Given the description of an element on the screen output the (x, y) to click on. 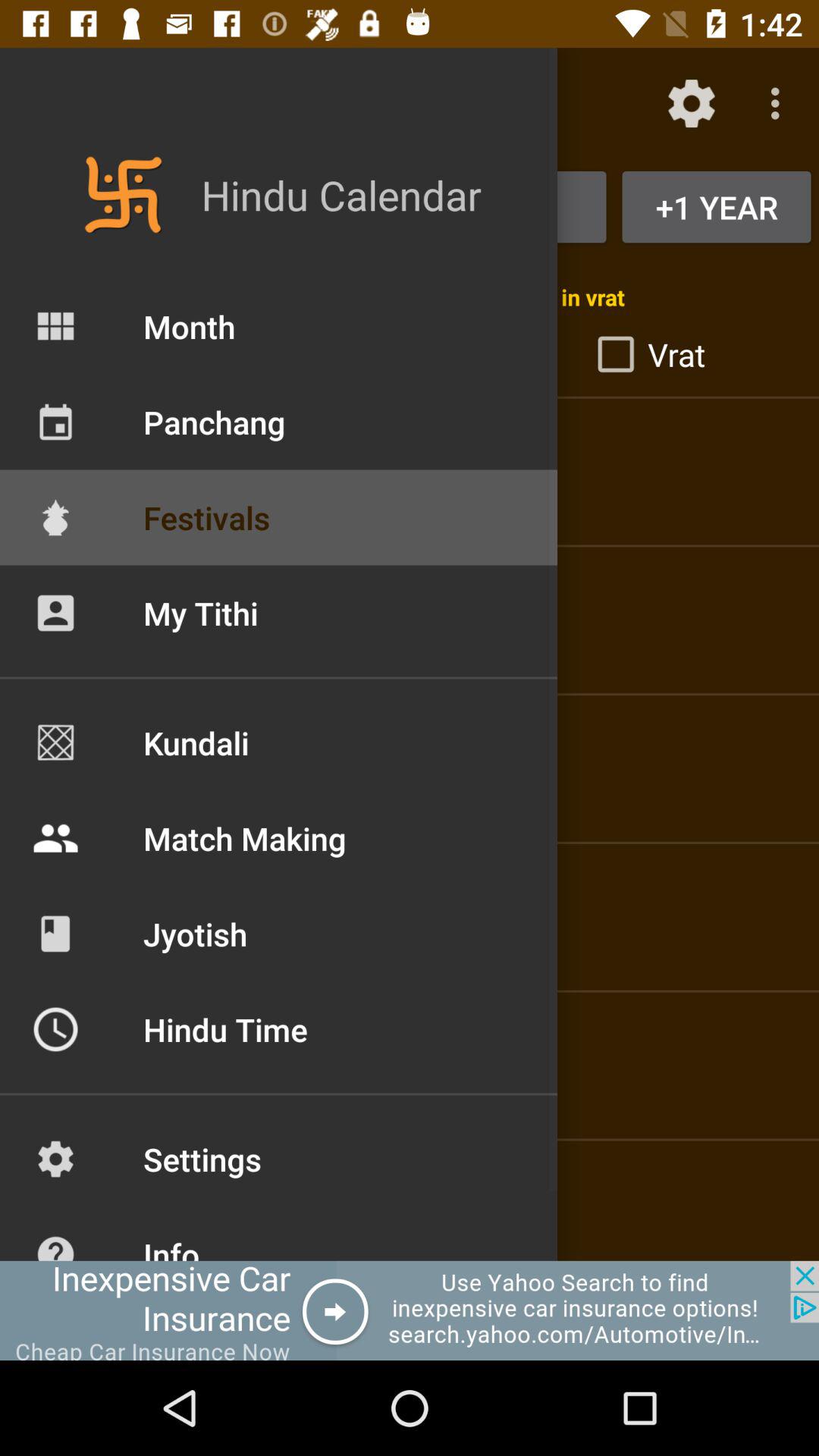
select the text beside 1year (409, 206)
